Given the description of an element on the screen output the (x, y) to click on. 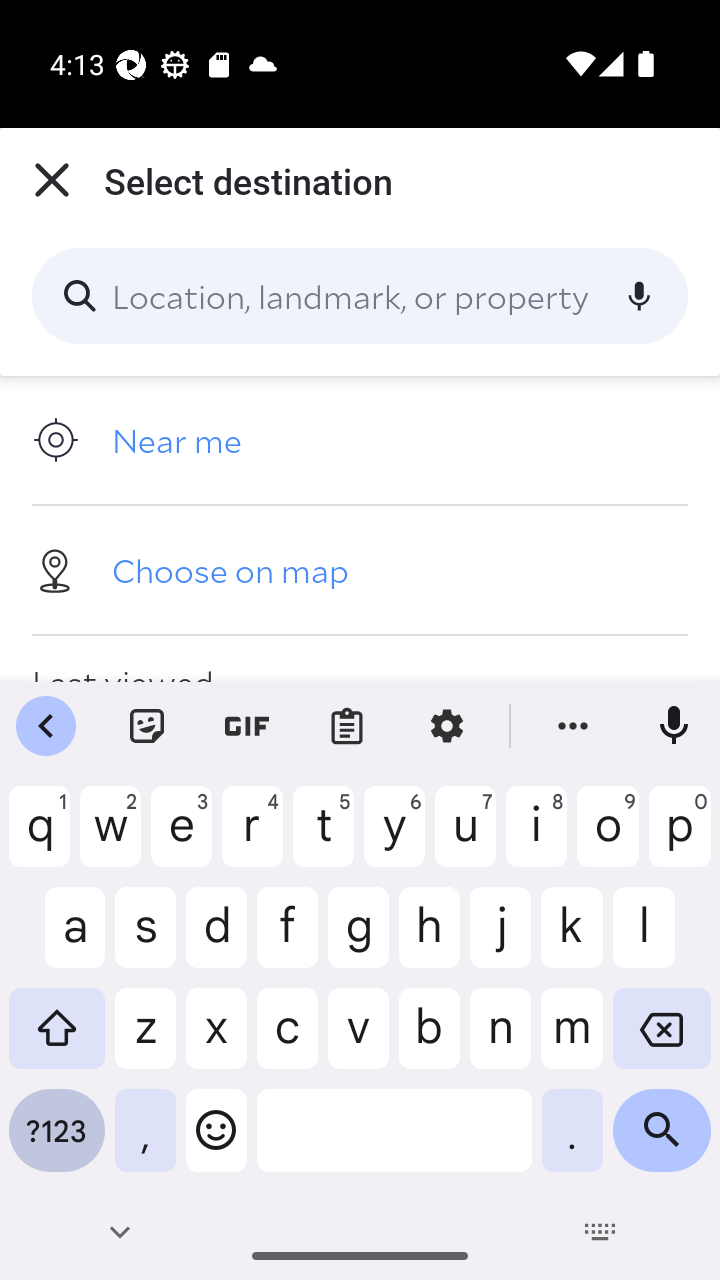
Location, landmark, or property (359, 296)
Near me (360, 440)
Choose on map (360, 569)
